Given the description of an element on the screen output the (x, y) to click on. 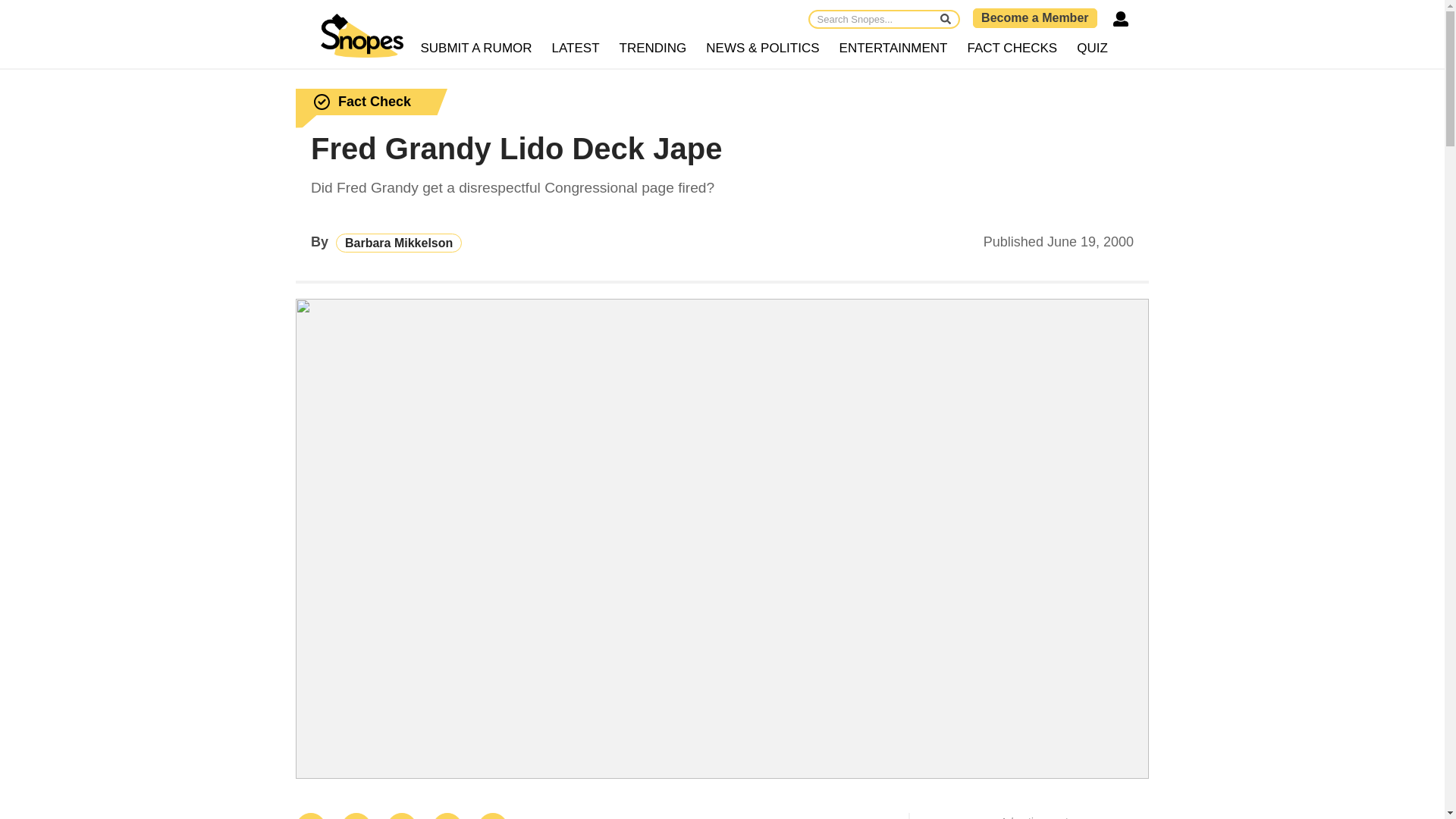
LATEST (576, 47)
Barbara Mikkelson (398, 242)
SUBMIT A RUMOR (475, 47)
ENTERTAINMENT (893, 47)
QUIZ (1092, 47)
Become a Member (1034, 17)
FACT CHECKS (1011, 47)
TRENDING (653, 47)
